Given the description of an element on the screen output the (x, y) to click on. 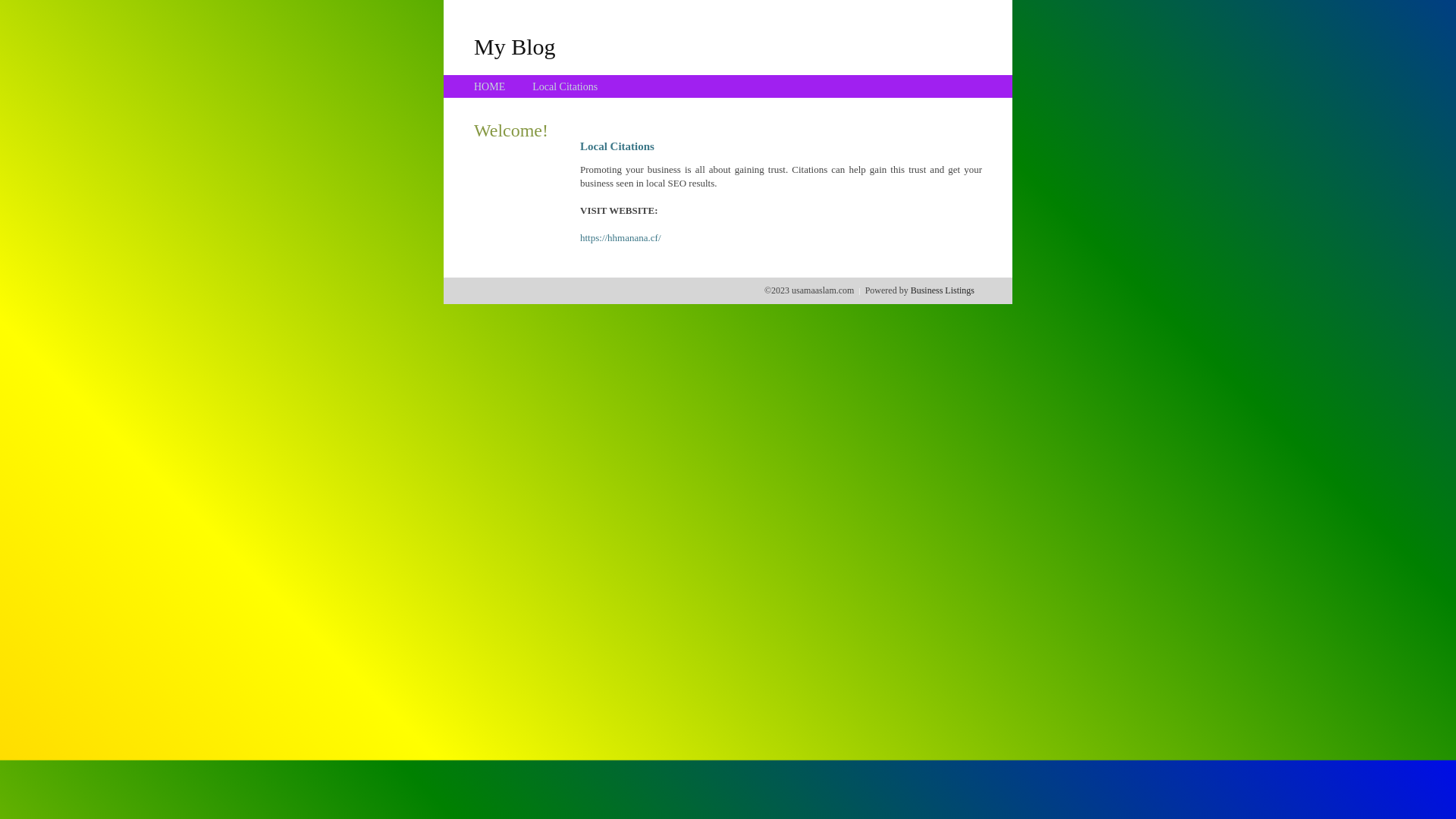
HOME Element type: text (489, 86)
https://hhmanana.cf/ Element type: text (620, 237)
Business Listings Element type: text (942, 290)
Local Citations Element type: text (564, 86)
My Blog Element type: text (514, 46)
